Given the description of an element on the screen output the (x, y) to click on. 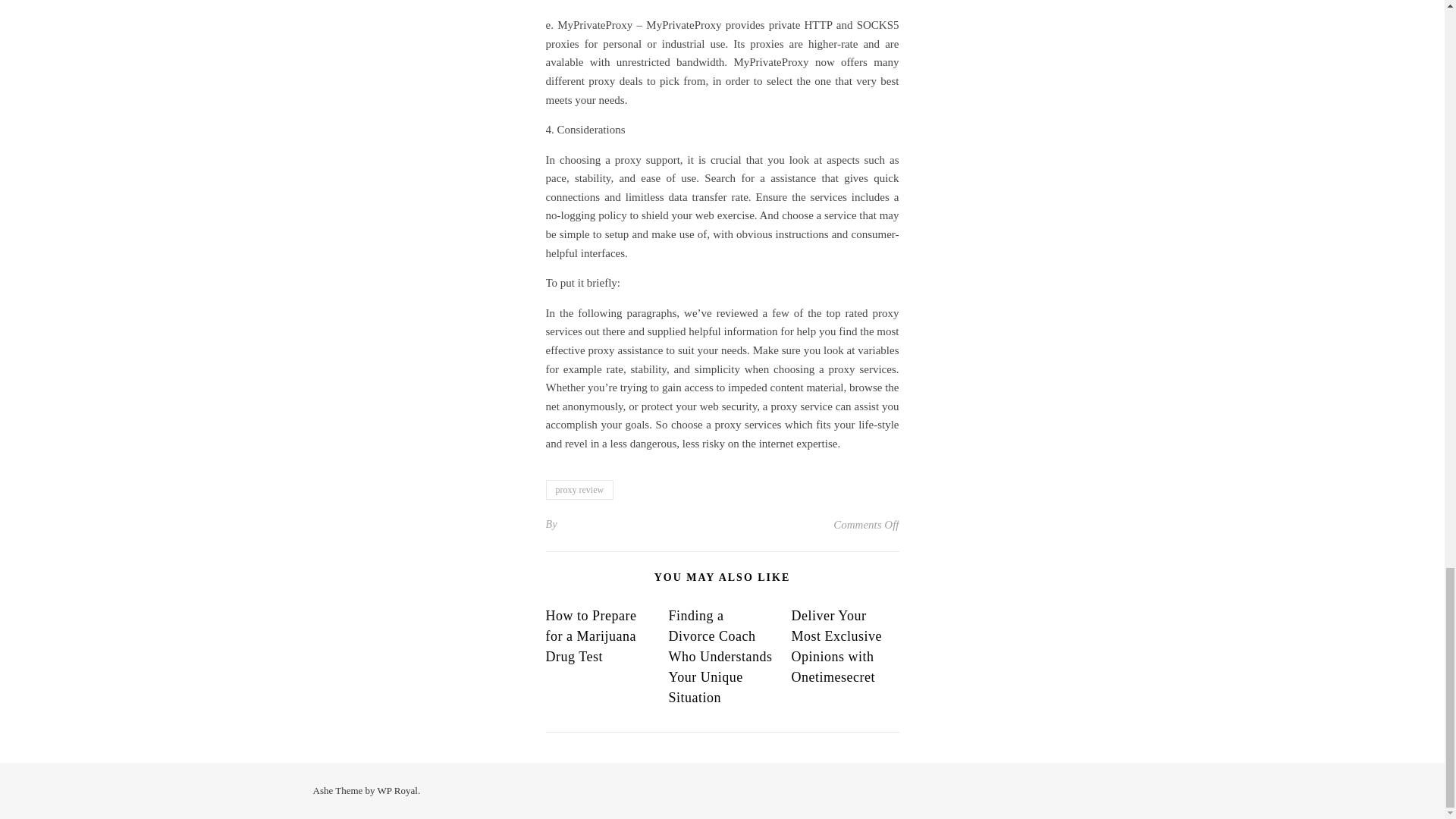
Deliver Your Most Exclusive Opinions with Onetimesecret (836, 646)
How to Prepare for a Marijuana Drug Test (591, 636)
WP Royal (397, 790)
proxy review (580, 489)
